Given the description of an element on the screen output the (x, y) to click on. 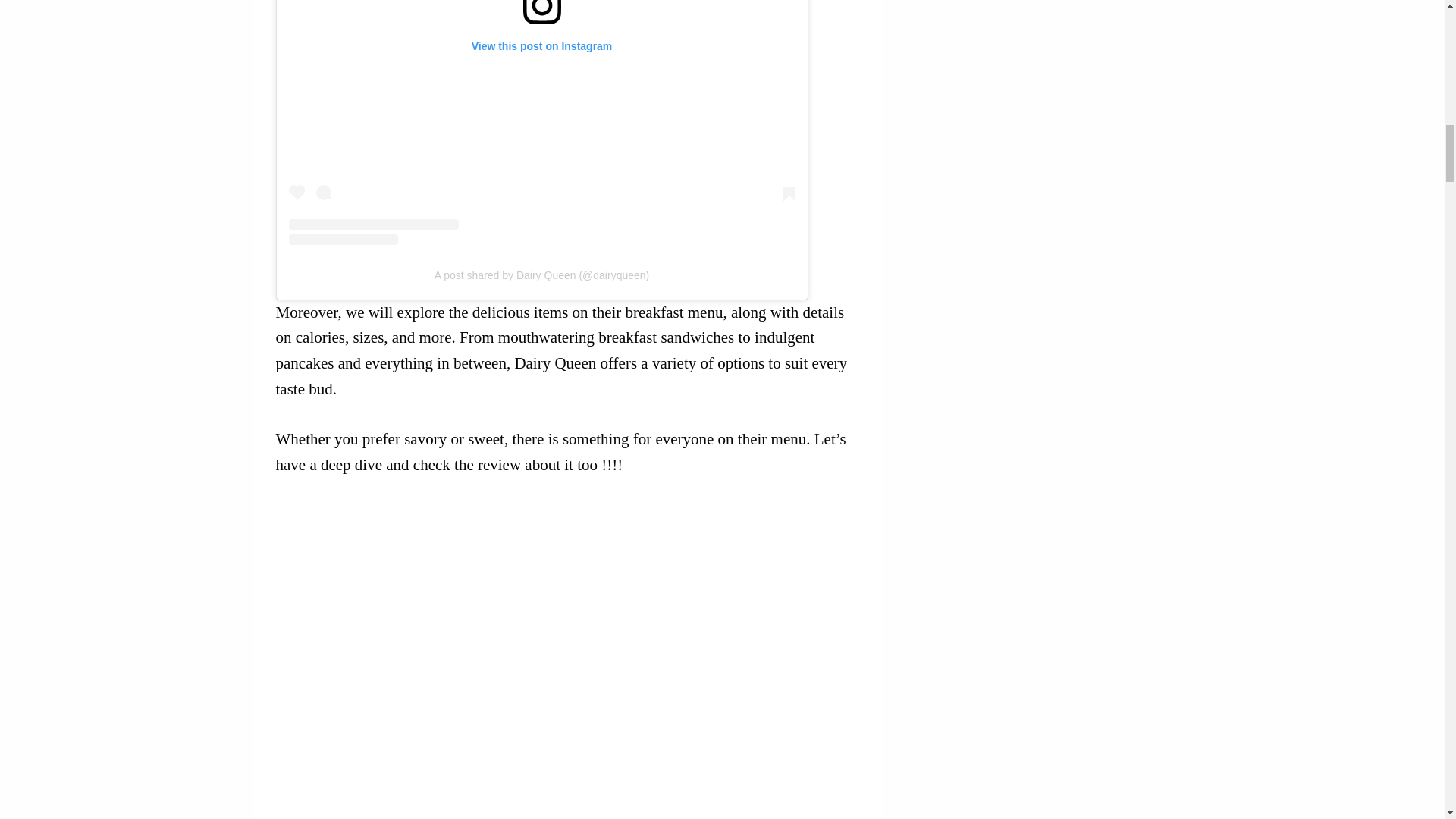
View this post on Instagram (541, 122)
